Given the description of an element on the screen output the (x, y) to click on. 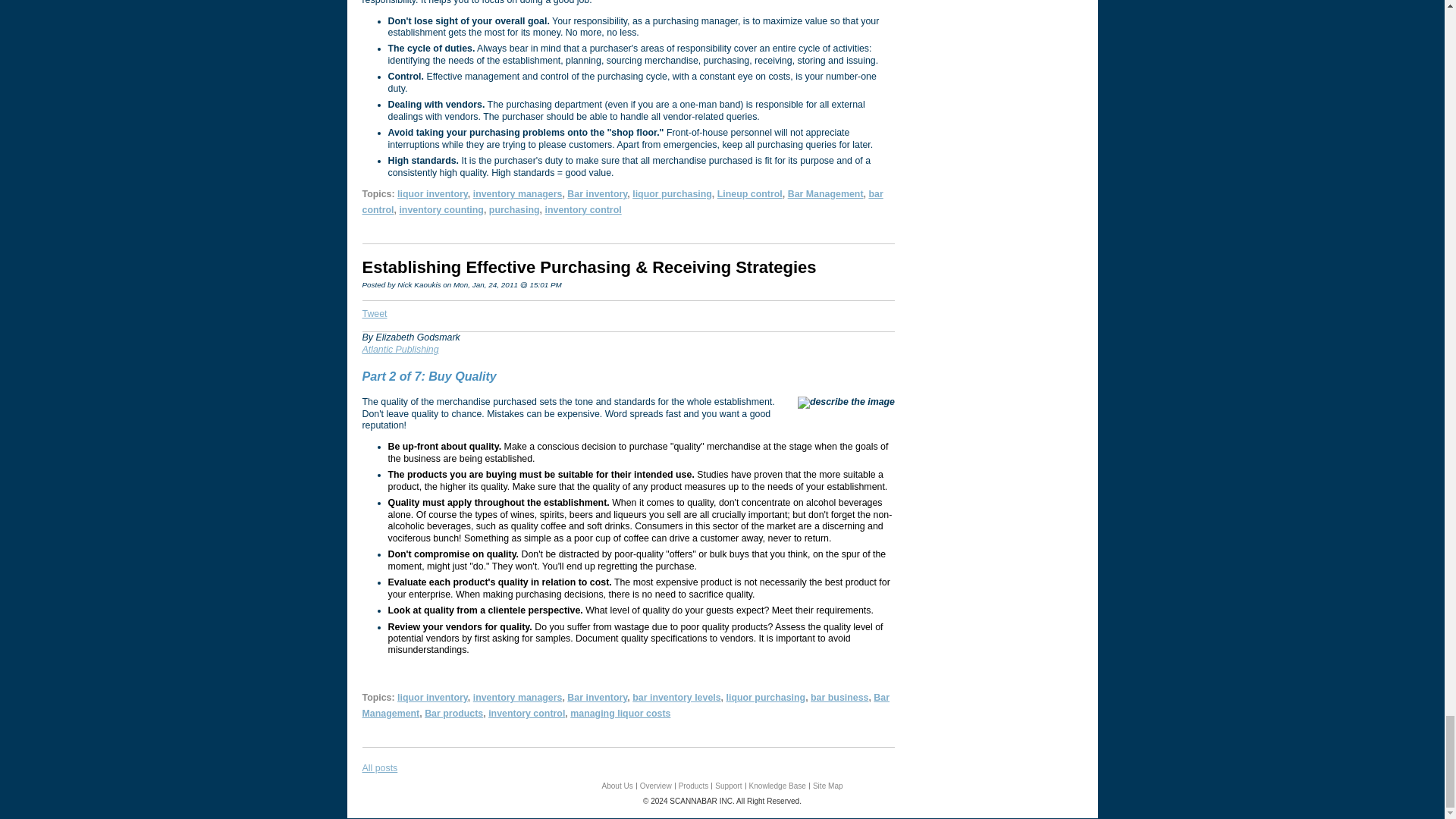
Atlantic Publishing (400, 348)
